Given the description of an element on the screen output the (x, y) to click on. 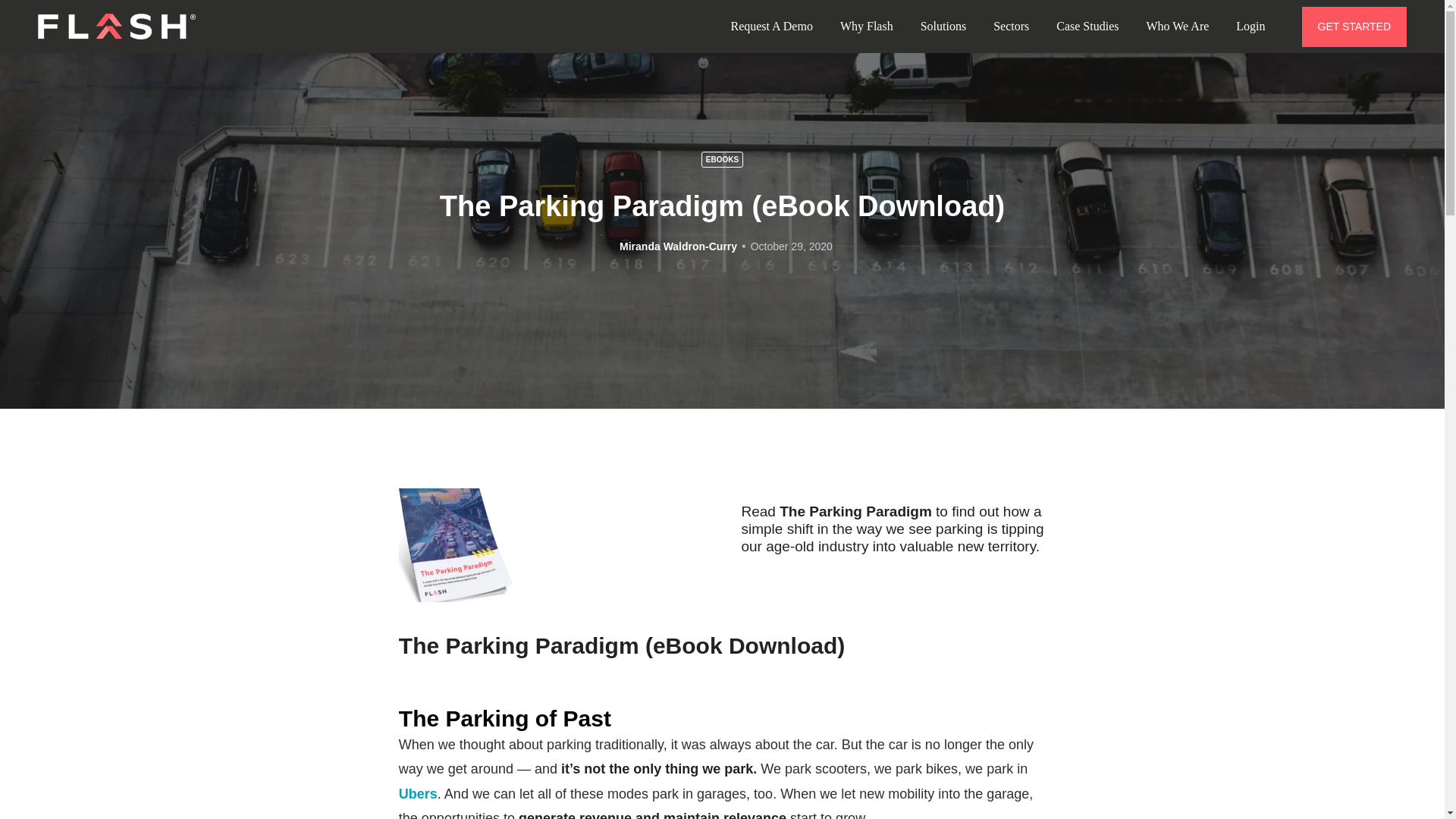
Request A Demo (770, 26)
Who We Are (1177, 26)
Sectors (1011, 26)
Why Flash (866, 26)
Case Studies (1086, 26)
Solutions (943, 26)
